Given the description of an element on the screen output the (x, y) to click on. 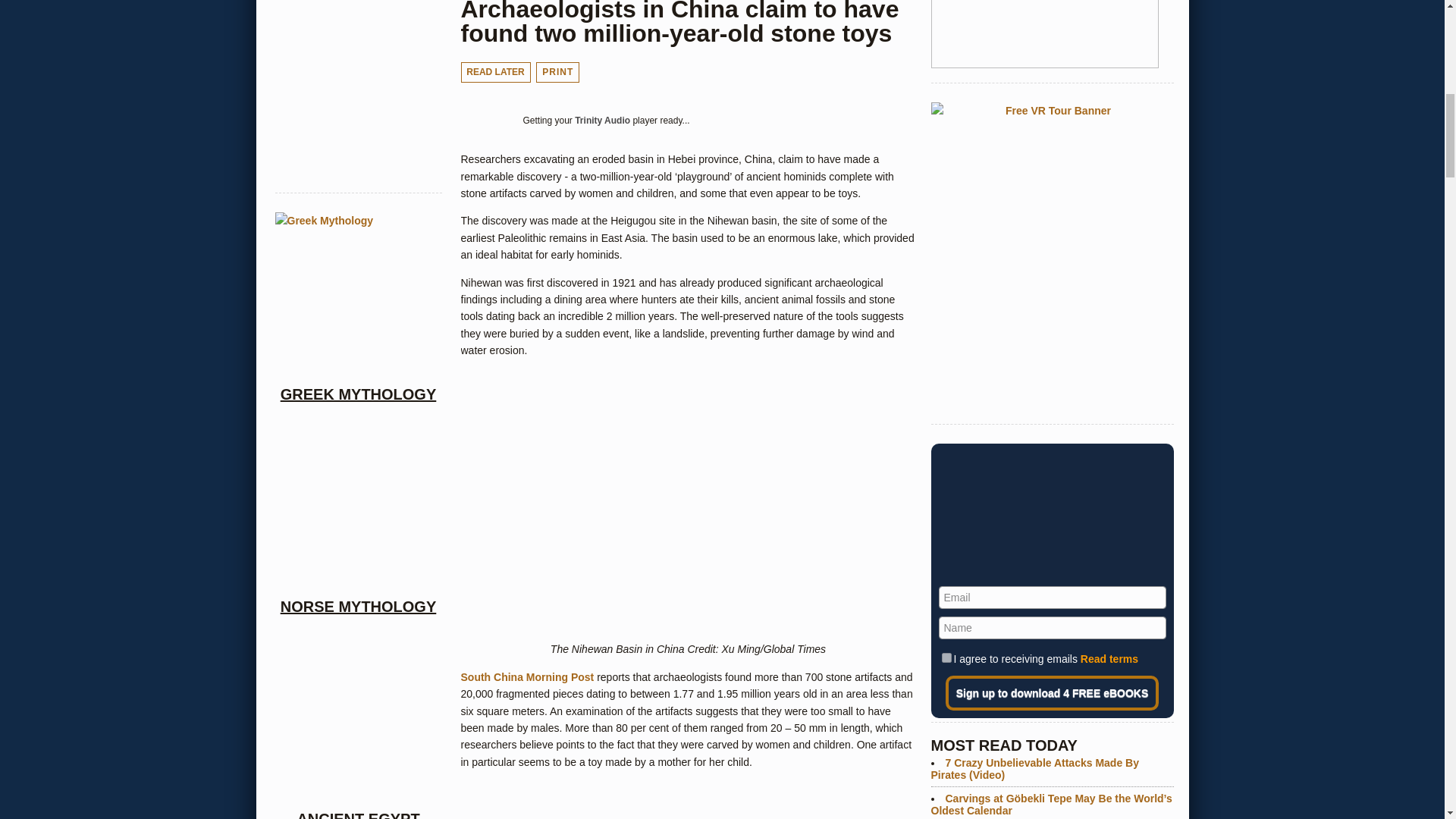
I approve receiving emails (947, 657)
